Given the description of an element on the screen output the (x, y) to click on. 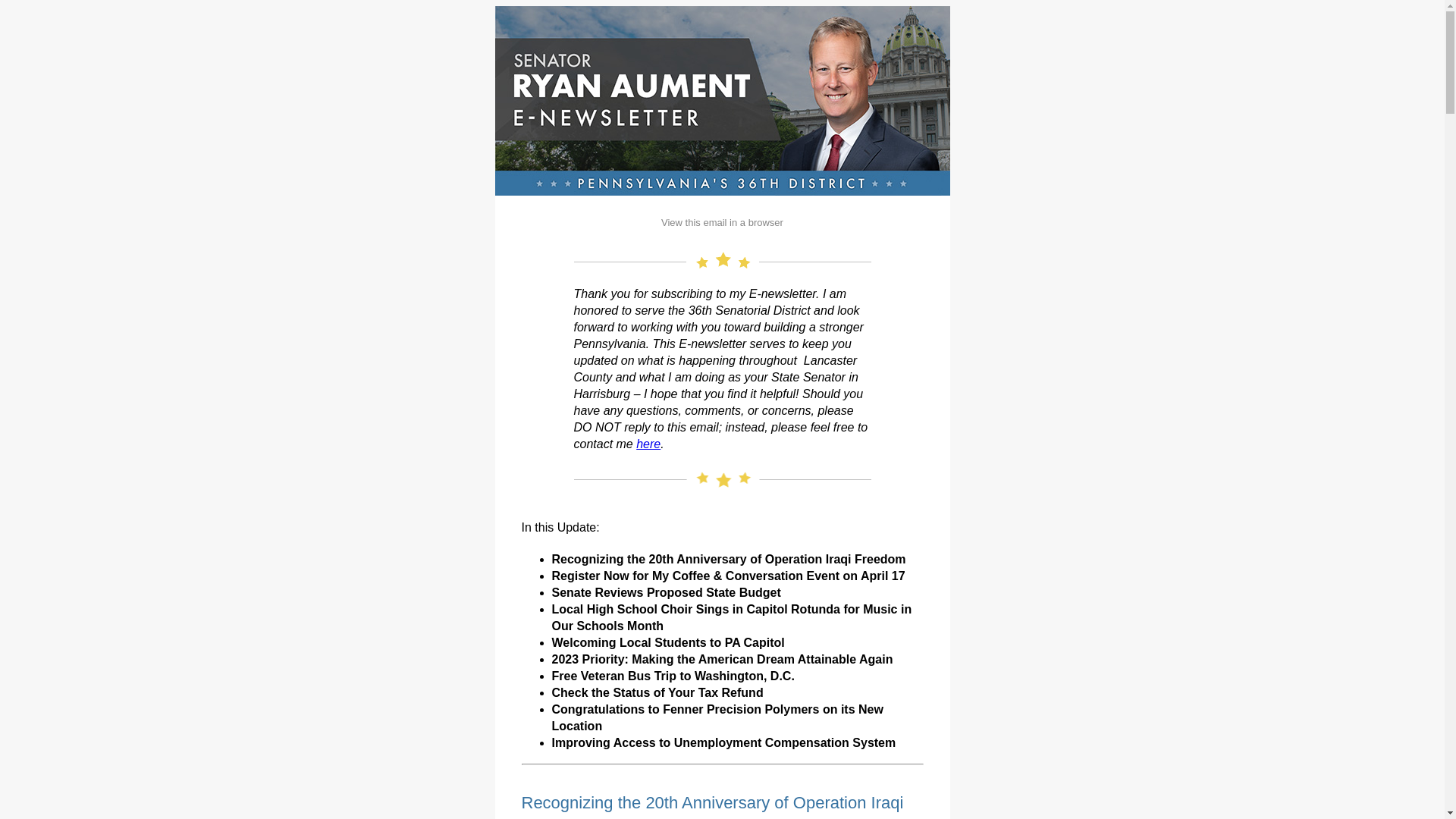
here (648, 443)
View this email in a browser (722, 222)
